Given the description of an element on the screen output the (x, y) to click on. 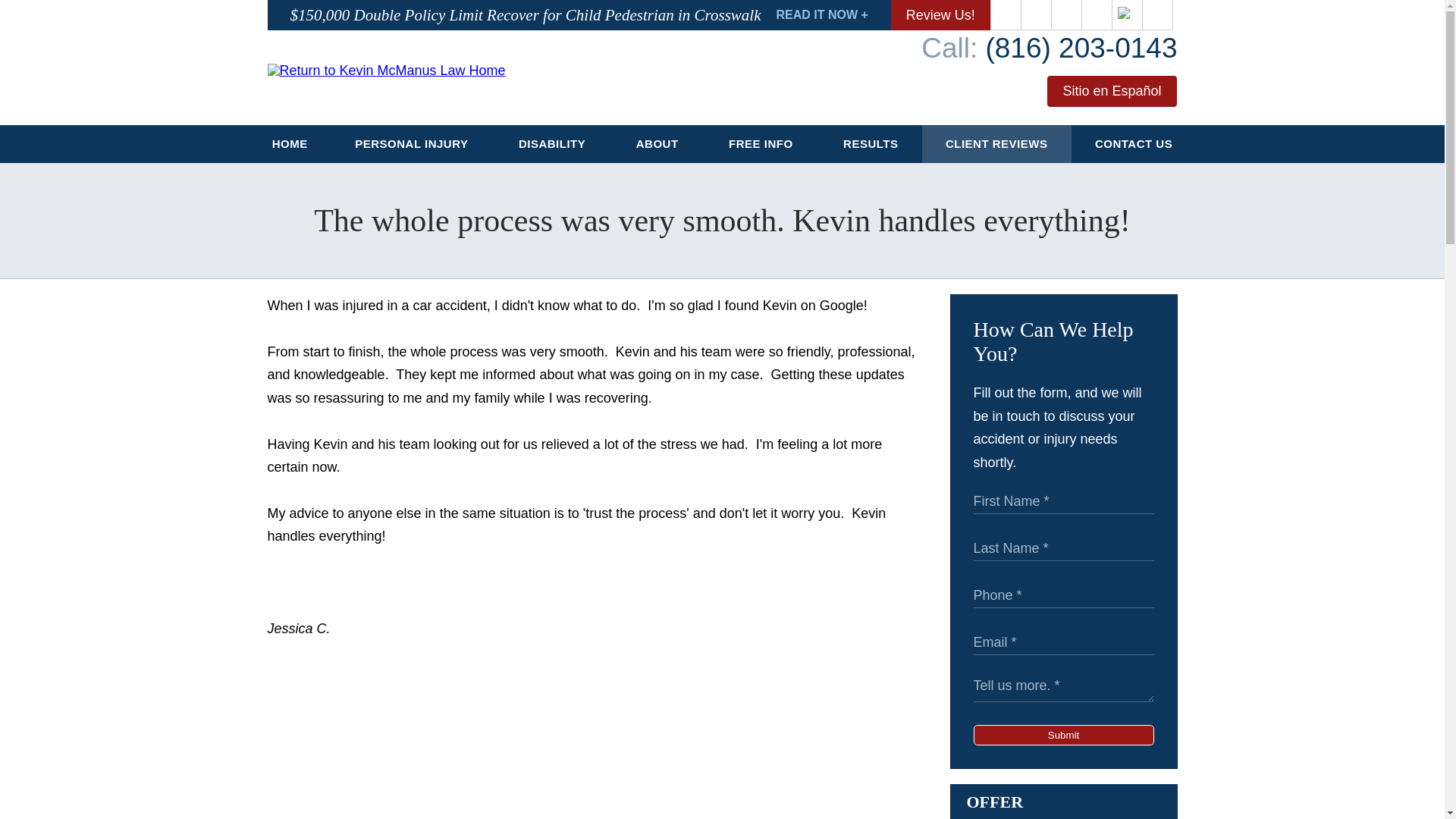
PERSONAL INJURY (413, 144)
HOME (289, 144)
ABOUT (658, 144)
Search (1157, 15)
Review Us! (940, 15)
DISABILITY (553, 144)
